Given the description of an element on the screen output the (x, y) to click on. 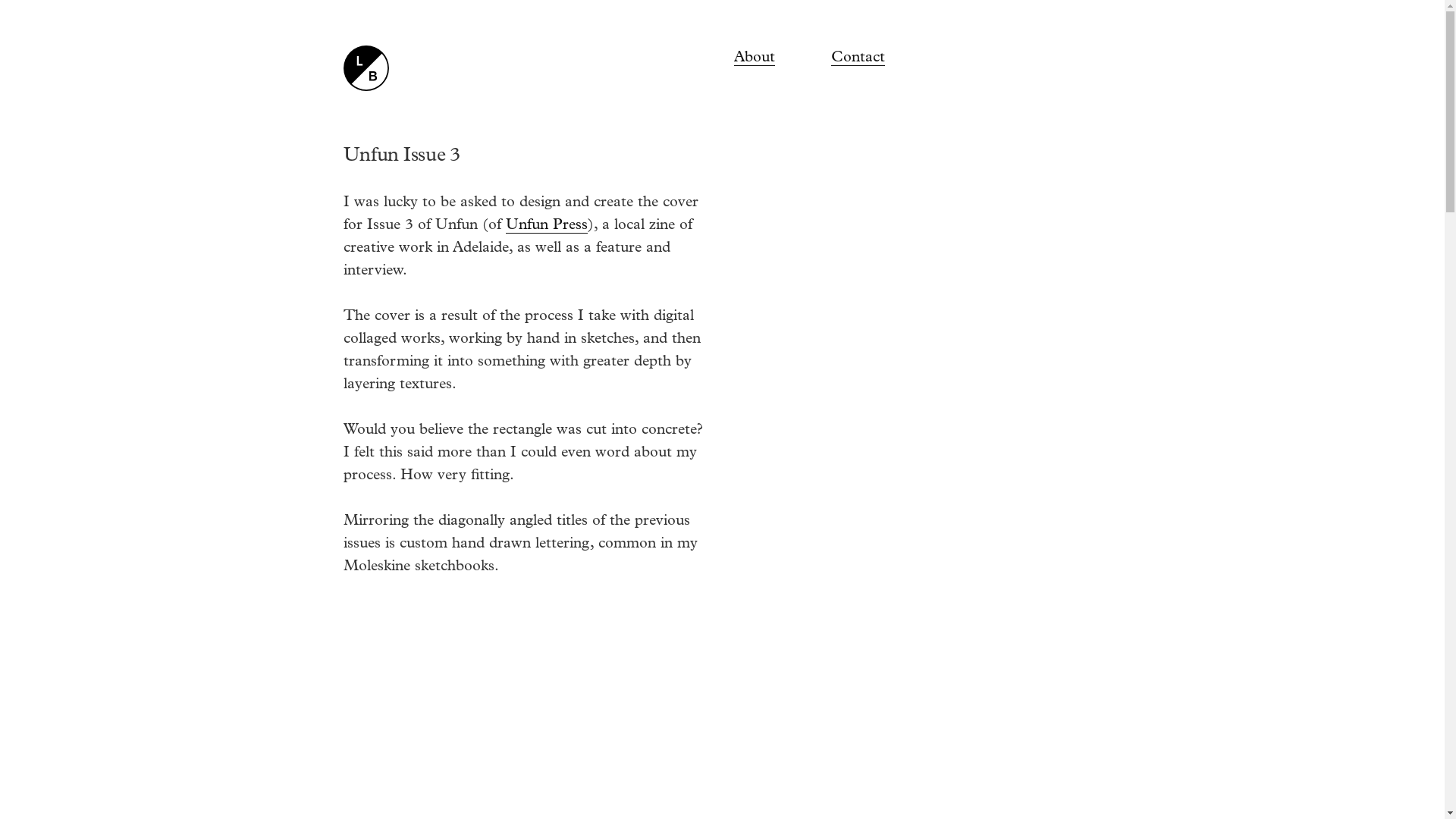
Contact Element type: text (857, 56)
Louis Bullock Element type: text (365, 68)
Unfun Press Element type: text (545, 224)
About Element type: text (754, 56)
